Given the description of an element on the screen output the (x, y) to click on. 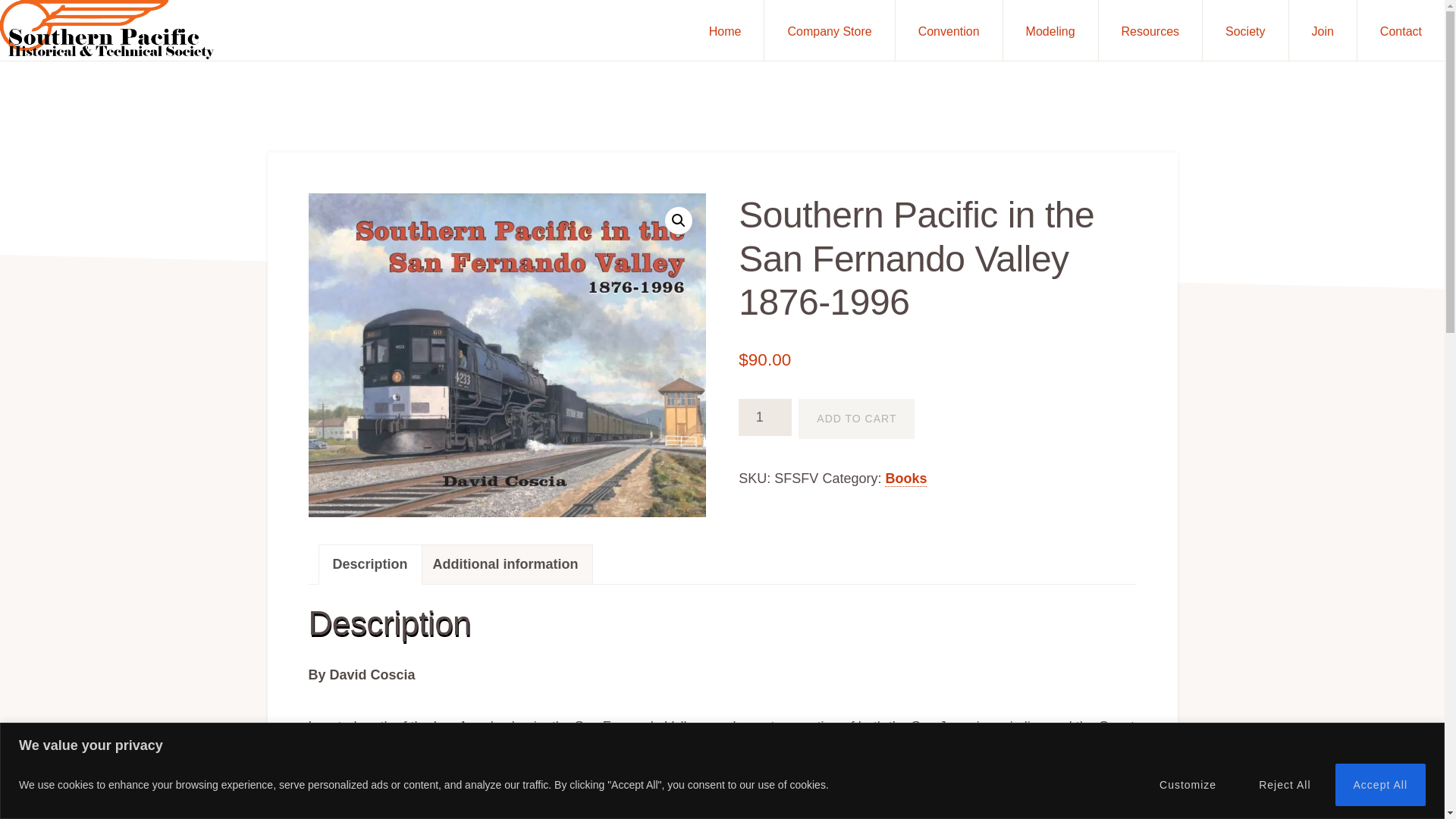
Accept All (1380, 783)
Modeling (1050, 30)
Resources (1150, 30)
Society (1244, 30)
Company Store (828, 30)
Southern Pacific in the San Fernando Valley 1876-1996 (505, 354)
Reject All (1283, 783)
Customize (1187, 783)
Convention (949, 30)
Home (724, 30)
